Given the description of an element on the screen output the (x, y) to click on. 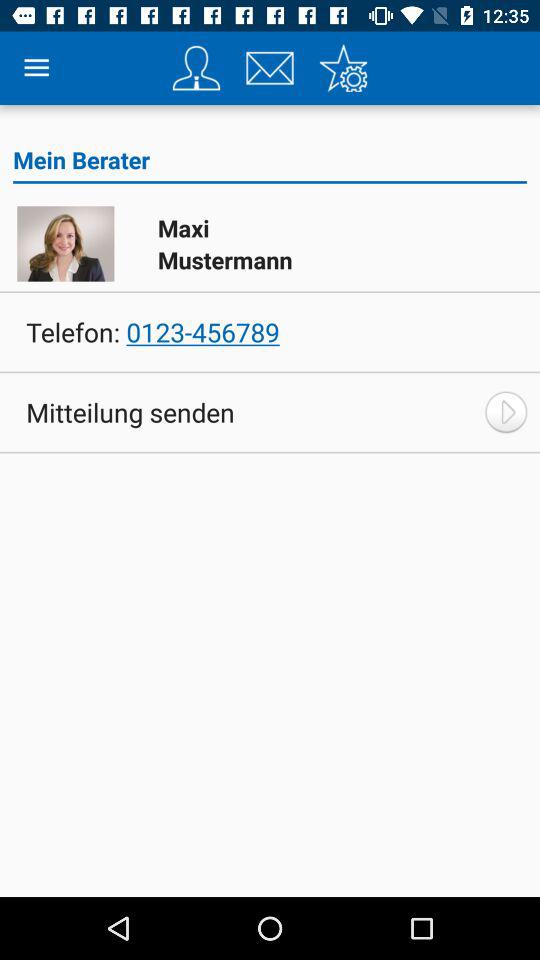
swipe until telefon: 0123-456789 icon (152, 331)
